Given the description of an element on the screen output the (x, y) to click on. 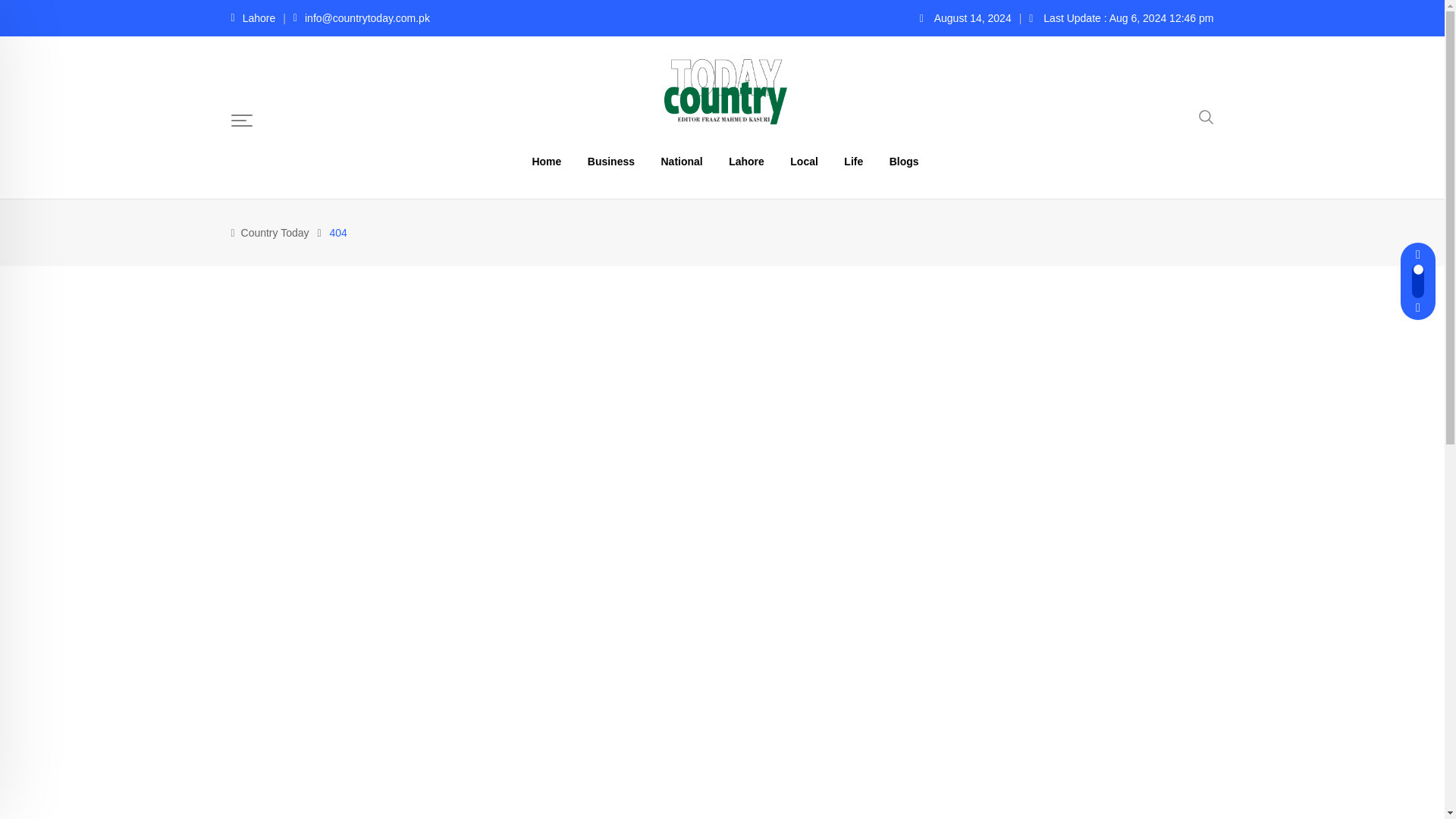
Go to Country Today. (274, 232)
Search (1205, 115)
Business (611, 161)
